Given the description of an element on the screen output the (x, y) to click on. 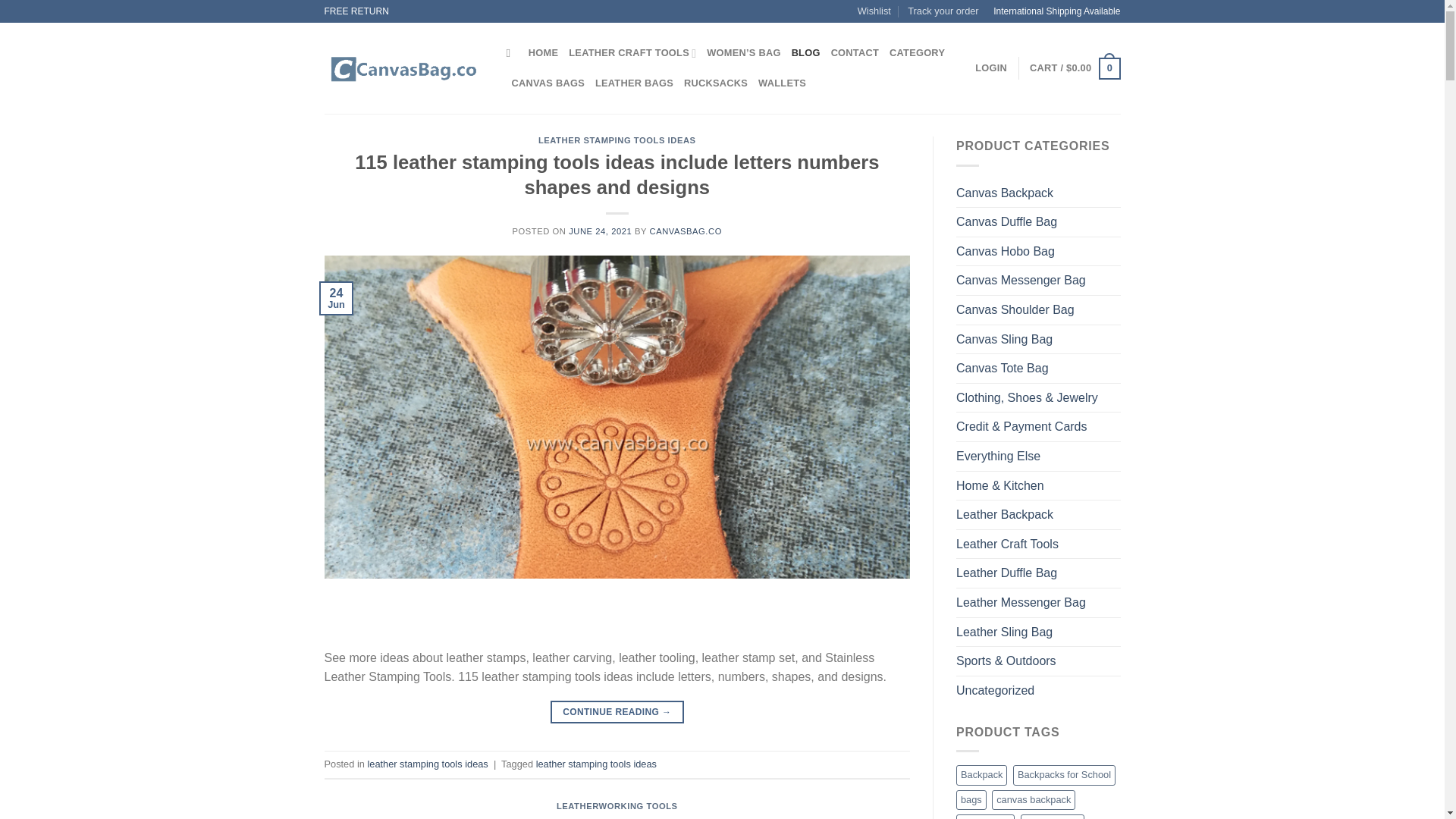
LEATHERWORKING TOOLS (617, 805)
CATEGORY (916, 52)
Wishlist (874, 11)
HOME (542, 52)
Track your order (942, 11)
LEATHER BAGS (633, 82)
LOGIN (991, 68)
LEATHER CRAFT TOOLS (632, 52)
